Given the description of an element on the screen output the (x, y) to click on. 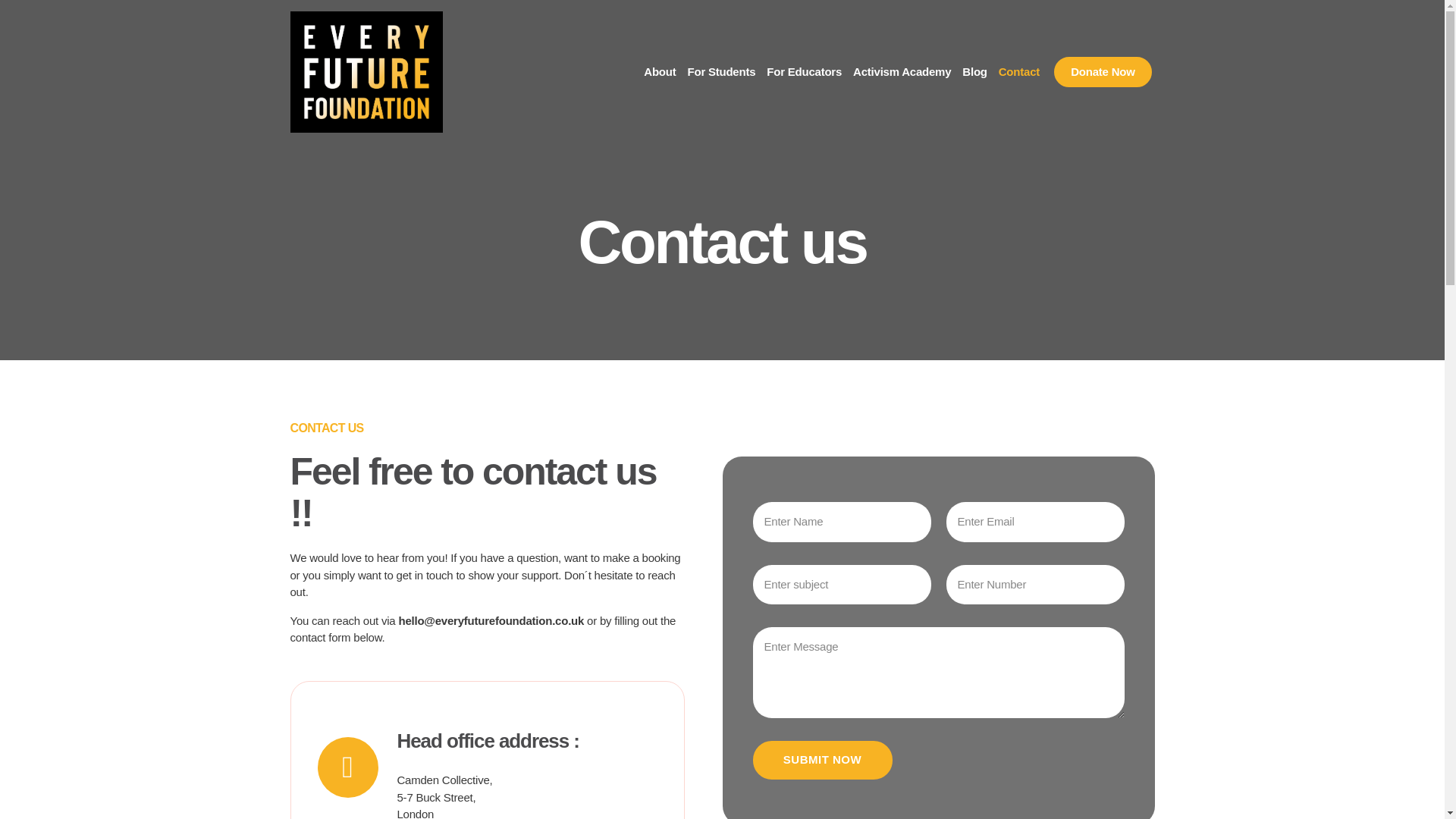
For Educators (804, 72)
About (659, 72)
For Students (721, 72)
SUBMIT NOW (821, 760)
Contact (1018, 72)
Blog (974, 72)
Activism Academy (901, 72)
Donate Now (1102, 71)
